Given the description of an element on the screen output the (x, y) to click on. 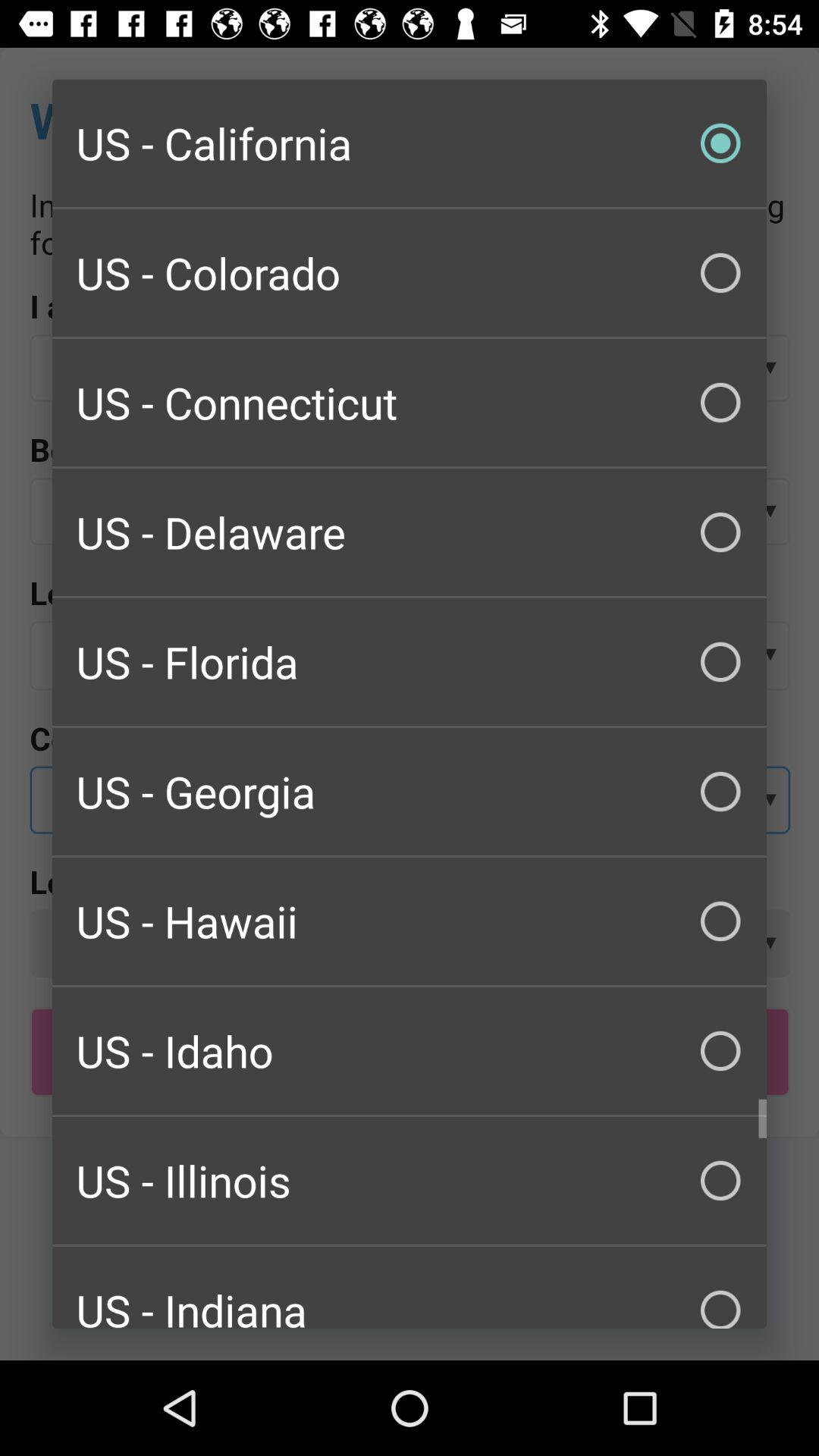
turn on the us - connecticut checkbox (409, 402)
